Given the description of an element on the screen output the (x, y) to click on. 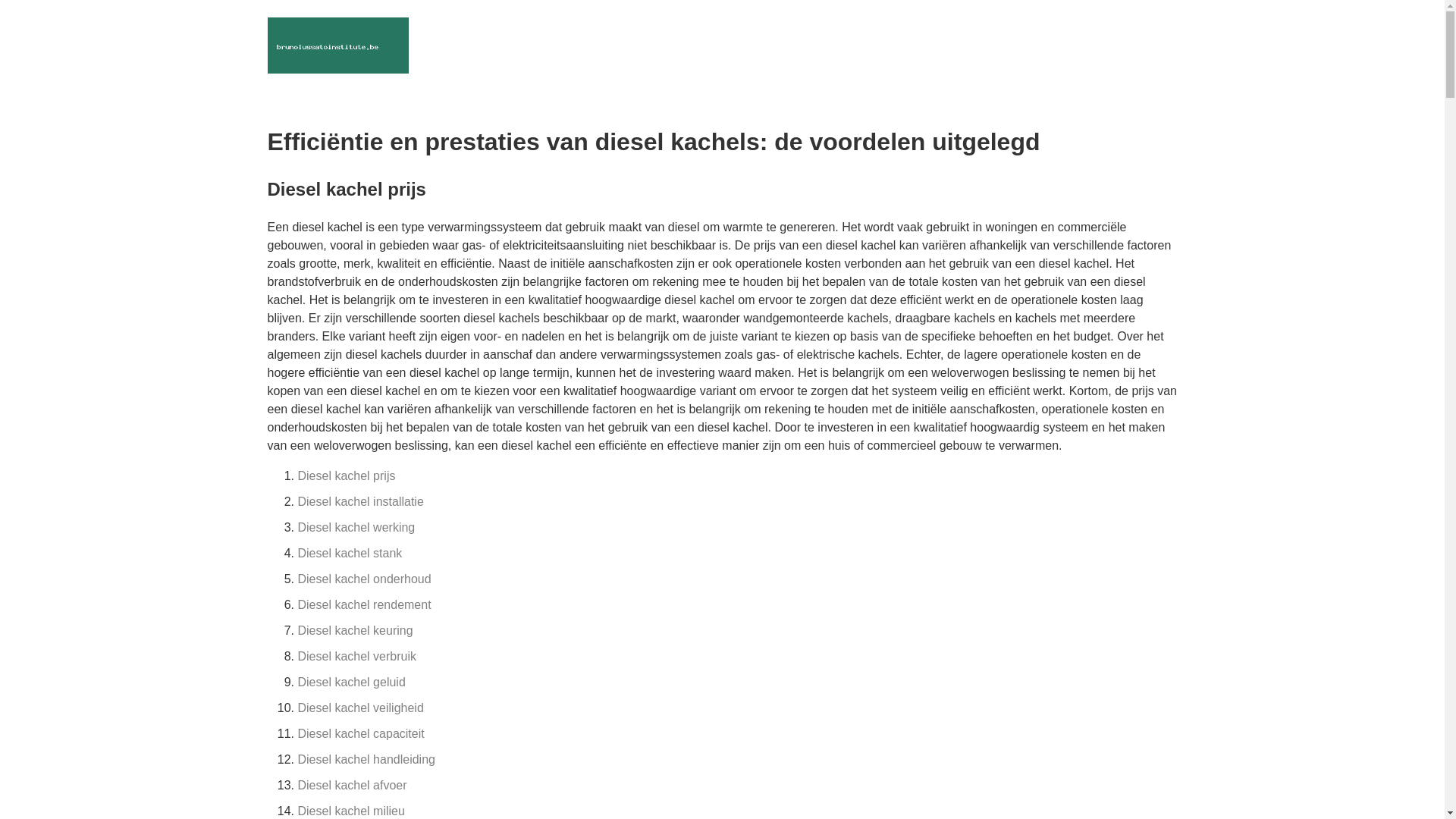
Diesel kachel veiligheid Element type: text (360, 707)
Diesel kachel installatie Element type: text (360, 501)
Diesel kachel milieu Element type: text (350, 810)
Diesel kachel prijs Element type: text (346, 475)
Diesel kachel afvoer Element type: text (351, 784)
Diesel kachel stank Element type: text (349, 552)
Diesel kachel geluid Element type: text (350, 681)
Diesel kachel capaciteit Element type: text (360, 733)
Diesel kachel werking Element type: text (355, 526)
Diesel kachel verbruik Element type: text (356, 655)
Diesel kachel keuring Element type: text (354, 630)
Diesel kachel onderhoud Element type: text (363, 578)
Diesel kachel rendement Element type: text (363, 604)
Diesel kachel handleiding Element type: text (365, 759)
